Given the description of an element on the screen output the (x, y) to click on. 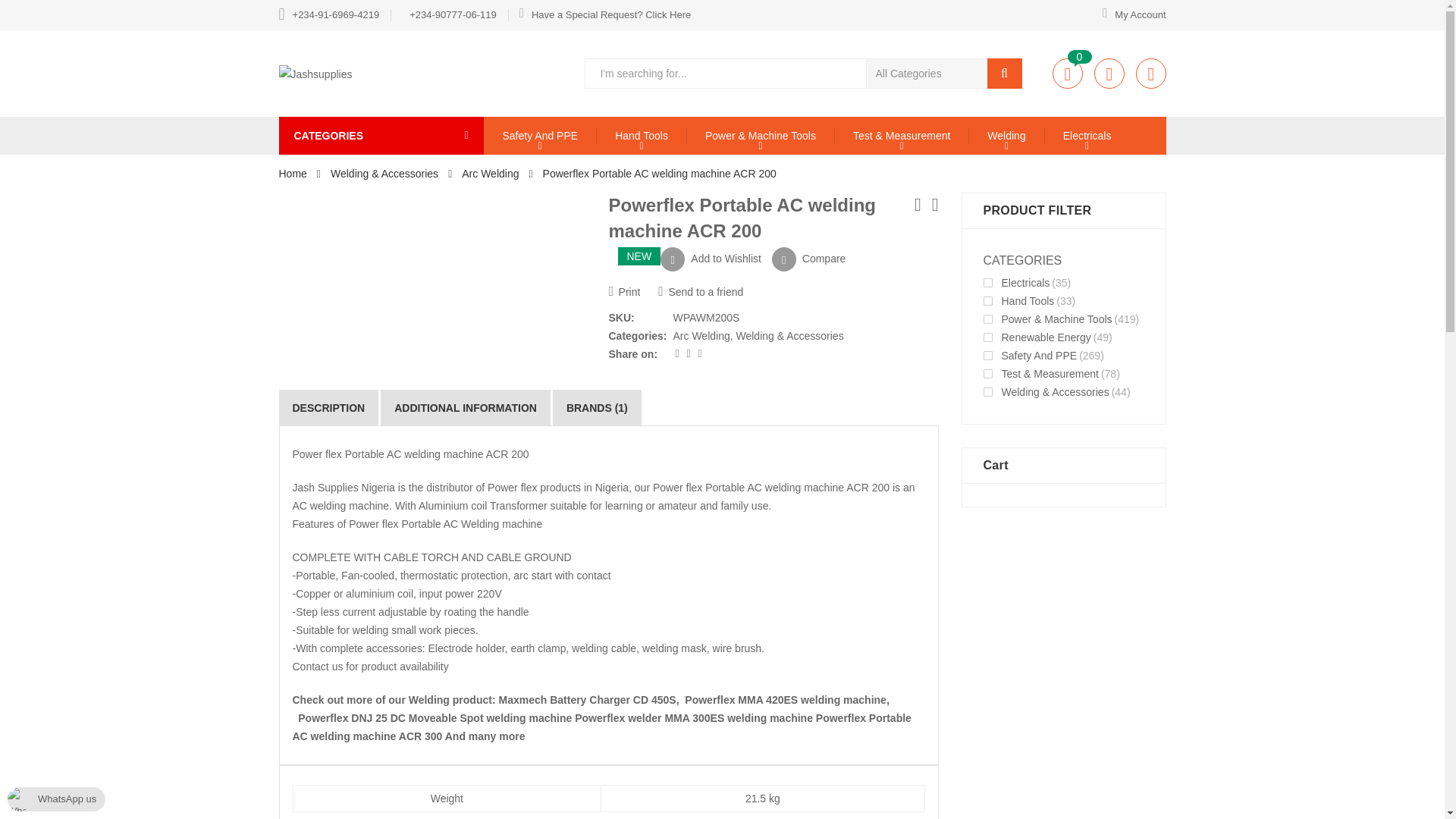
My Account (1128, 15)
Facebook (689, 354)
0 (1067, 73)
Have a Special Request? Click Here (605, 15)
Twitter (678, 354)
